Given the description of an element on the screen output the (x, y) to click on. 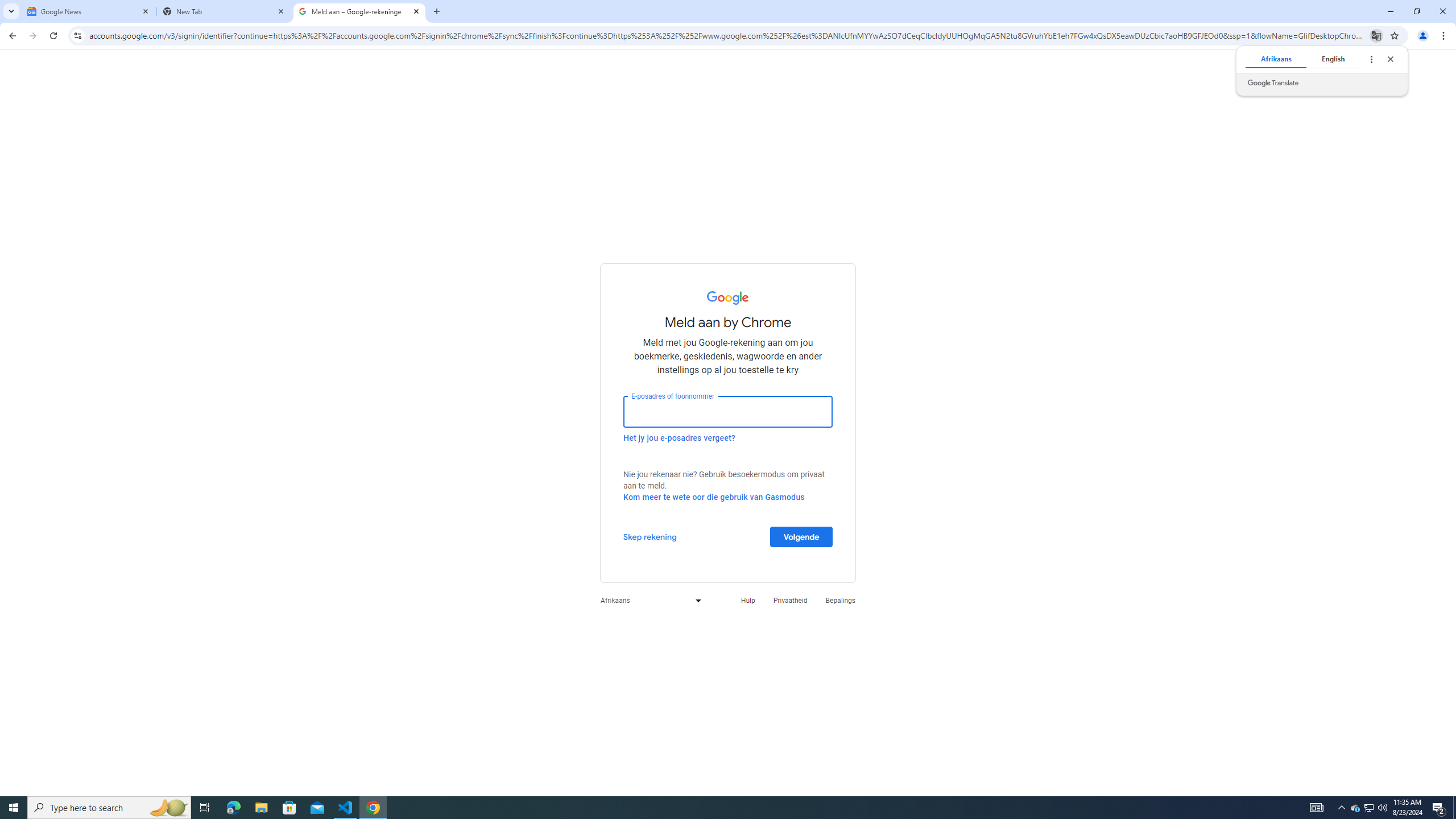
E-posadres of foonnommer (727, 411)
Privaatheid (790, 600)
Skep rekening (649, 536)
Bepalings (840, 600)
